Given the description of an element on the screen output the (x, y) to click on. 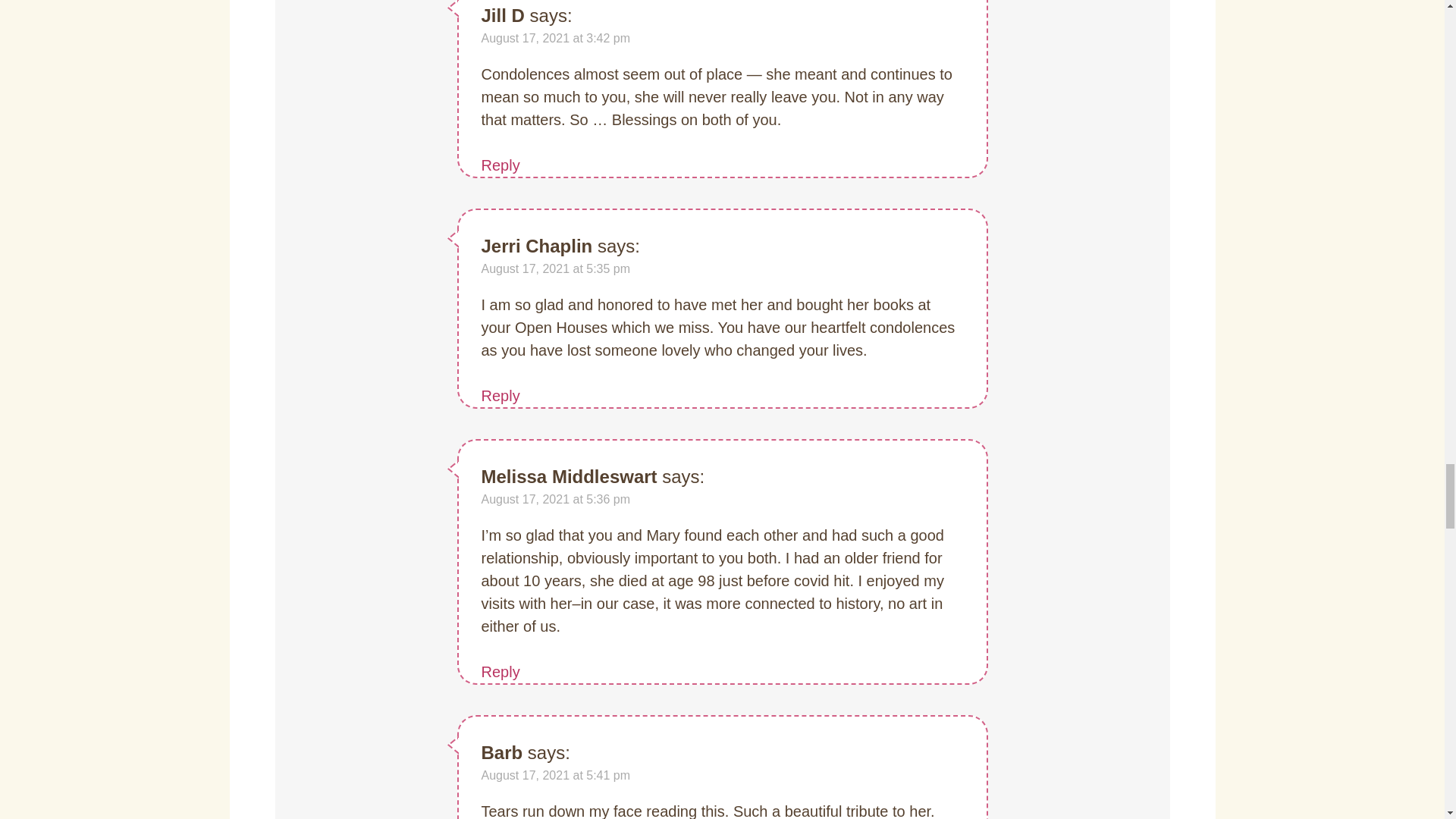
Reply (499, 671)
August 17, 2021 at 3:42 pm (555, 38)
August 17, 2021 at 5:35 pm (555, 268)
Barb (501, 752)
August 17, 2021 at 5:36 pm (555, 499)
August 17, 2021 at 5:41 pm (555, 775)
Reply (499, 165)
Reply (499, 395)
